Given the description of an element on the screen output the (x, y) to click on. 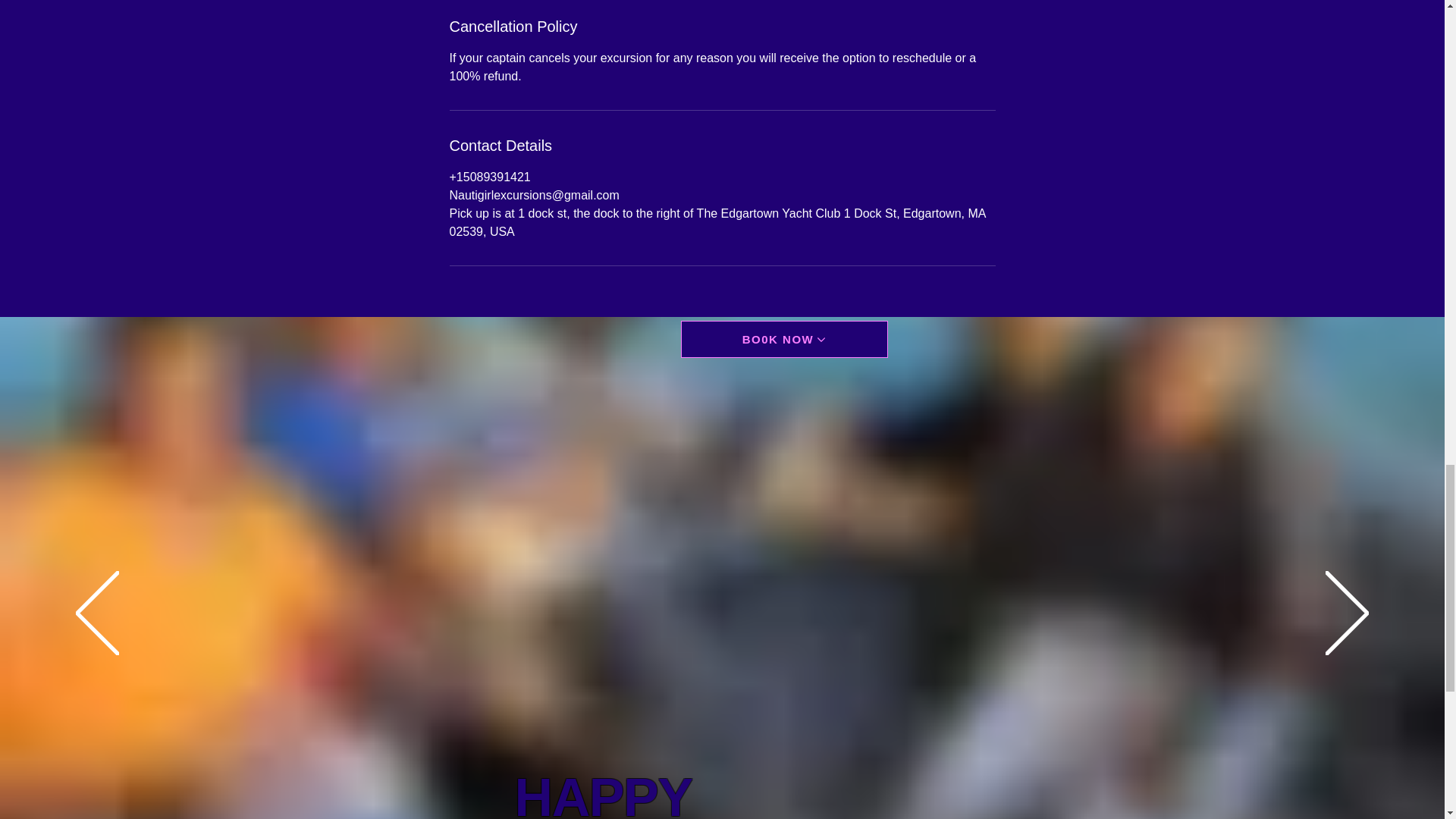
BO0K NOW (784, 339)
